Given the description of an element on the screen output the (x, y) to click on. 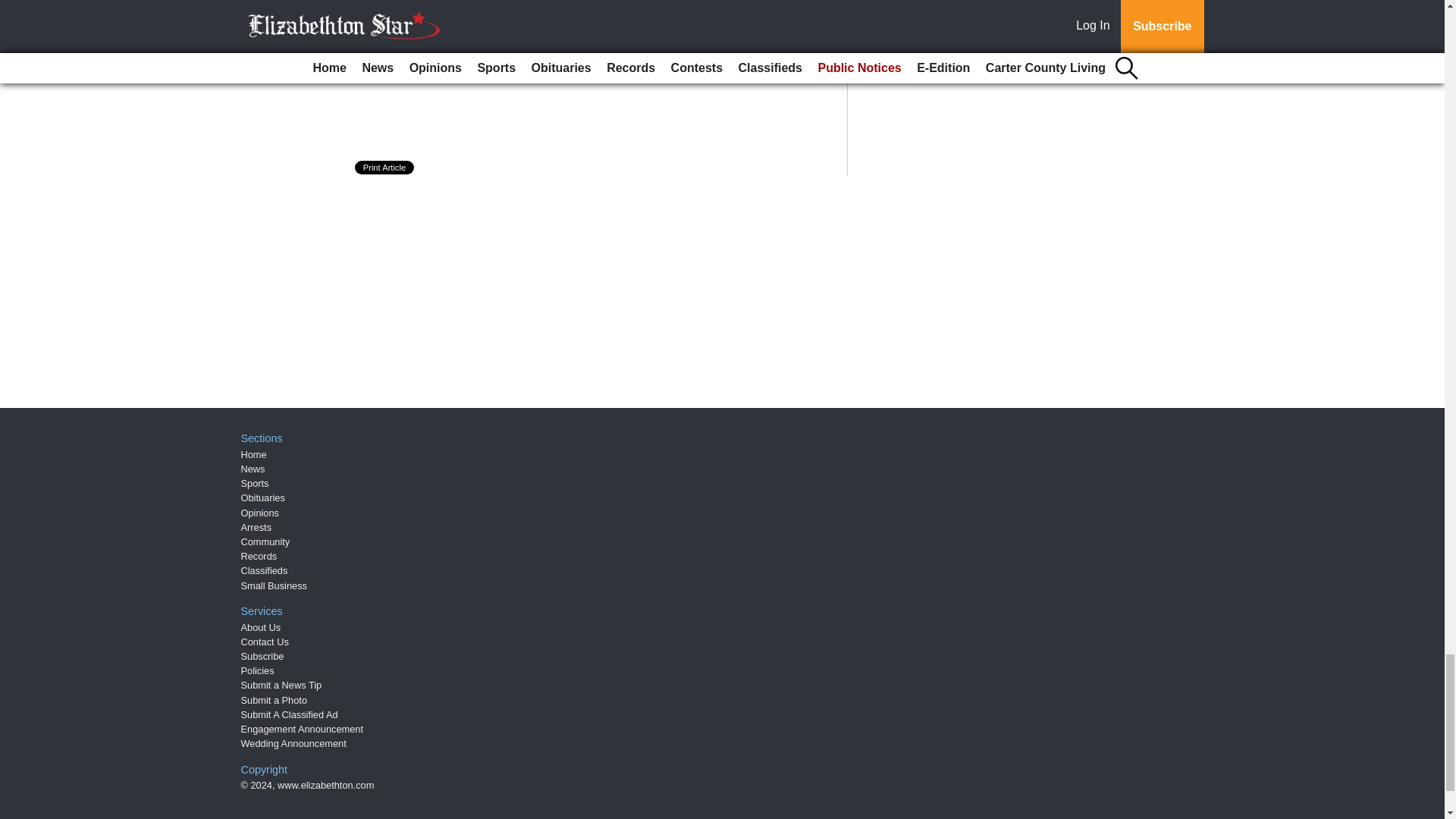
Print Article (384, 167)
